Given the description of an element on the screen output the (x, y) to click on. 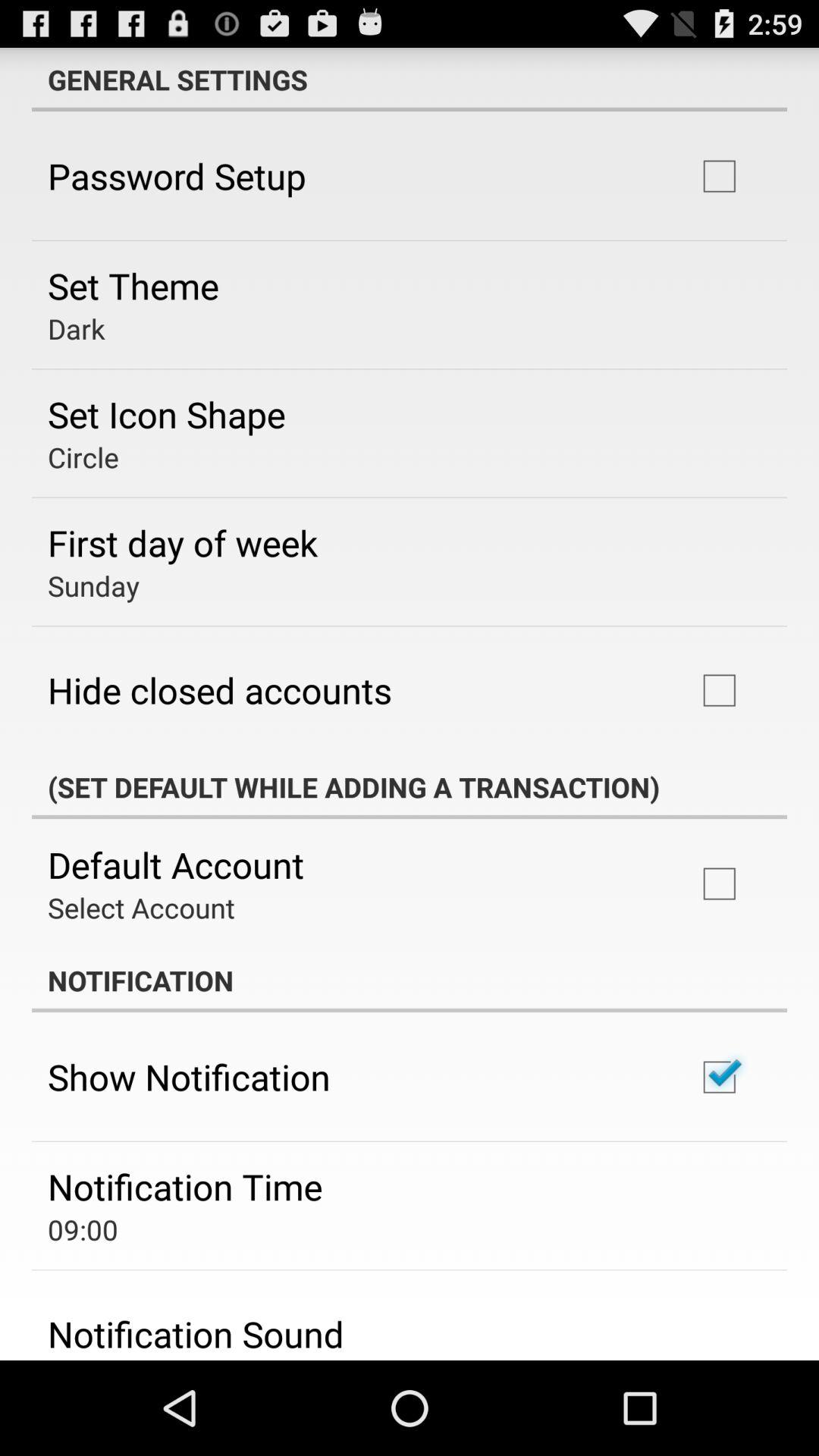
launch item below circle (182, 542)
